Given the description of an element on the screen output the (x, y) to click on. 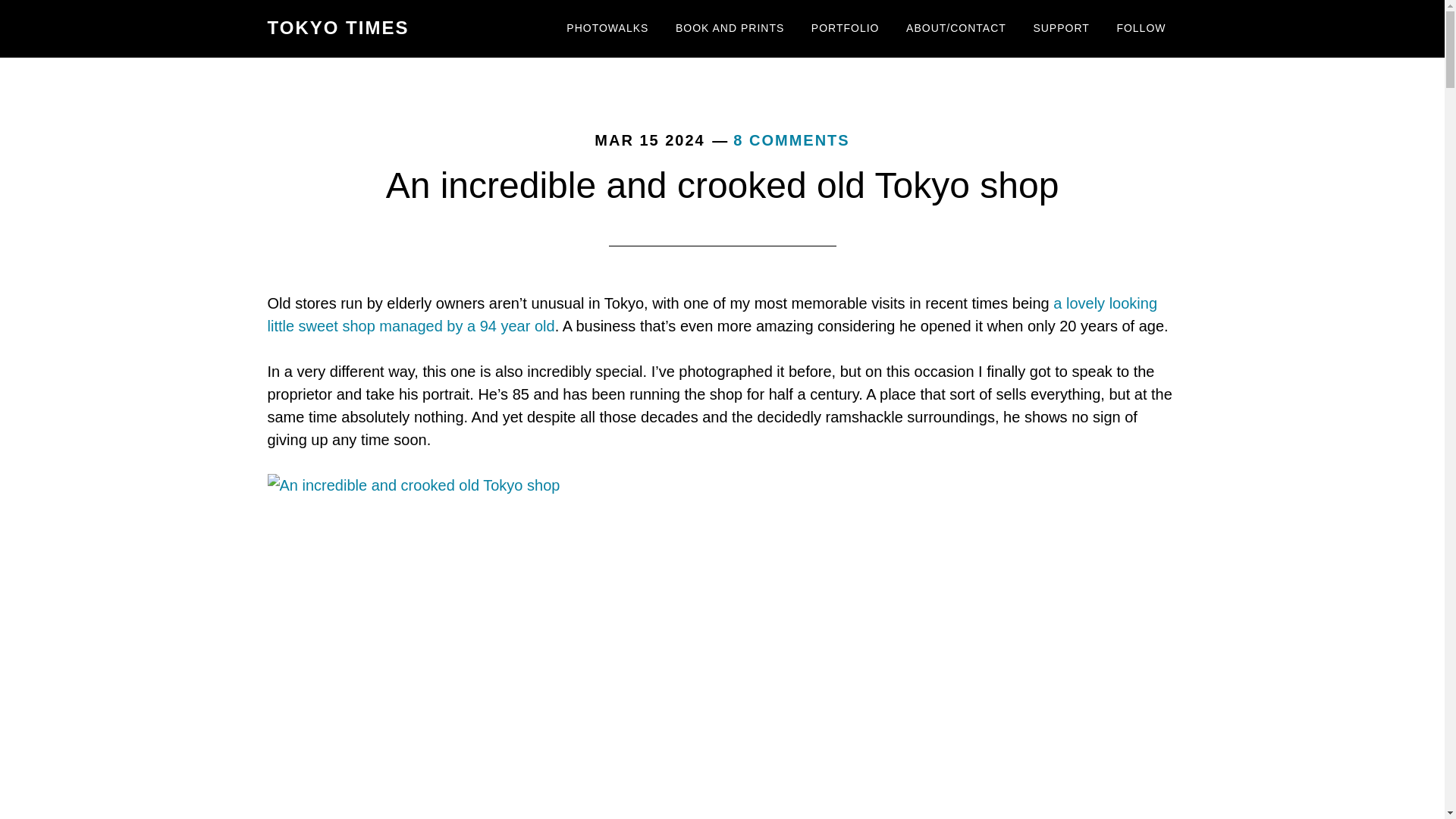
PHOTOWALKS (606, 28)
8 COMMENTS (790, 139)
TOKYO TIMES (337, 27)
a lovely looking little sweet shop managed by a 94 year old (711, 314)
BOOK AND PRINTS (728, 28)
FOLLOW (1140, 28)
SUPPORT (1061, 28)
PORTFOLIO (845, 28)
